Given the description of an element on the screen output the (x, y) to click on. 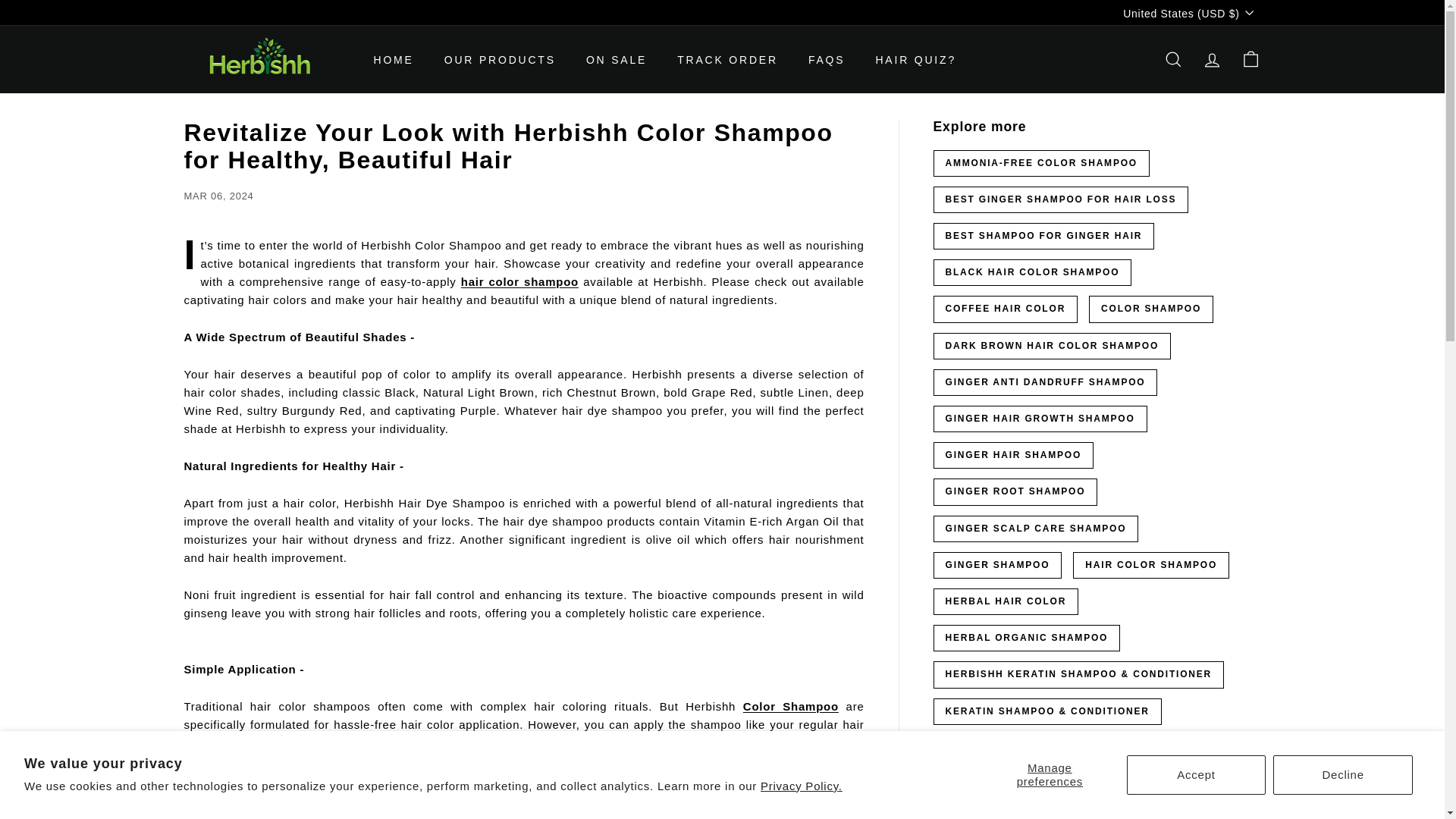
Decline (1342, 774)
Accept (1196, 774)
Manage preferences (1049, 774)
Privacy Policy. (801, 785)
